Given the description of an element on the screen output the (x, y) to click on. 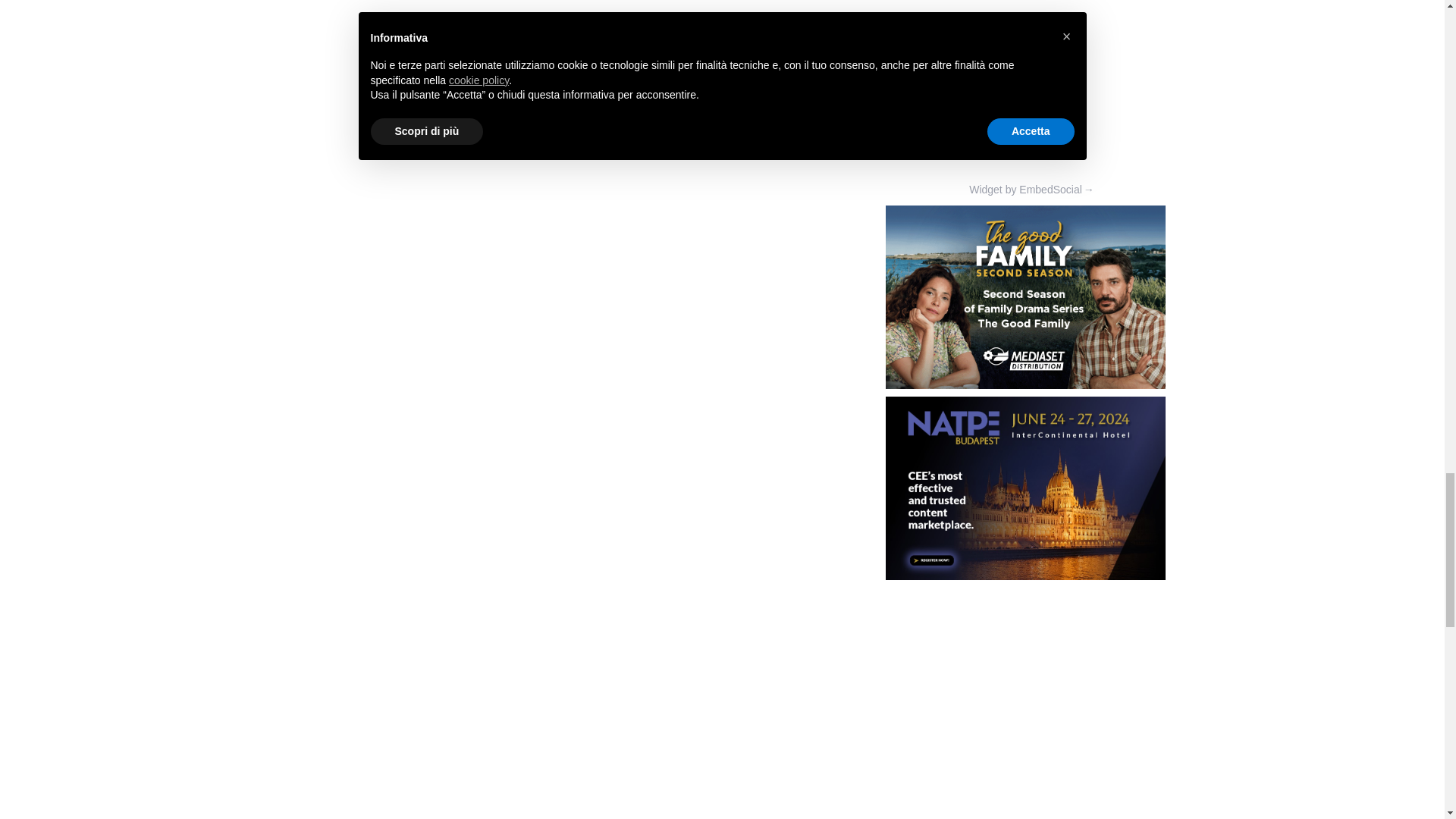
Widget by EmbedSocial (1025, 189)
EmbedSocial Universal Widget (1025, 96)
